Given the description of an element on the screen output the (x, y) to click on. 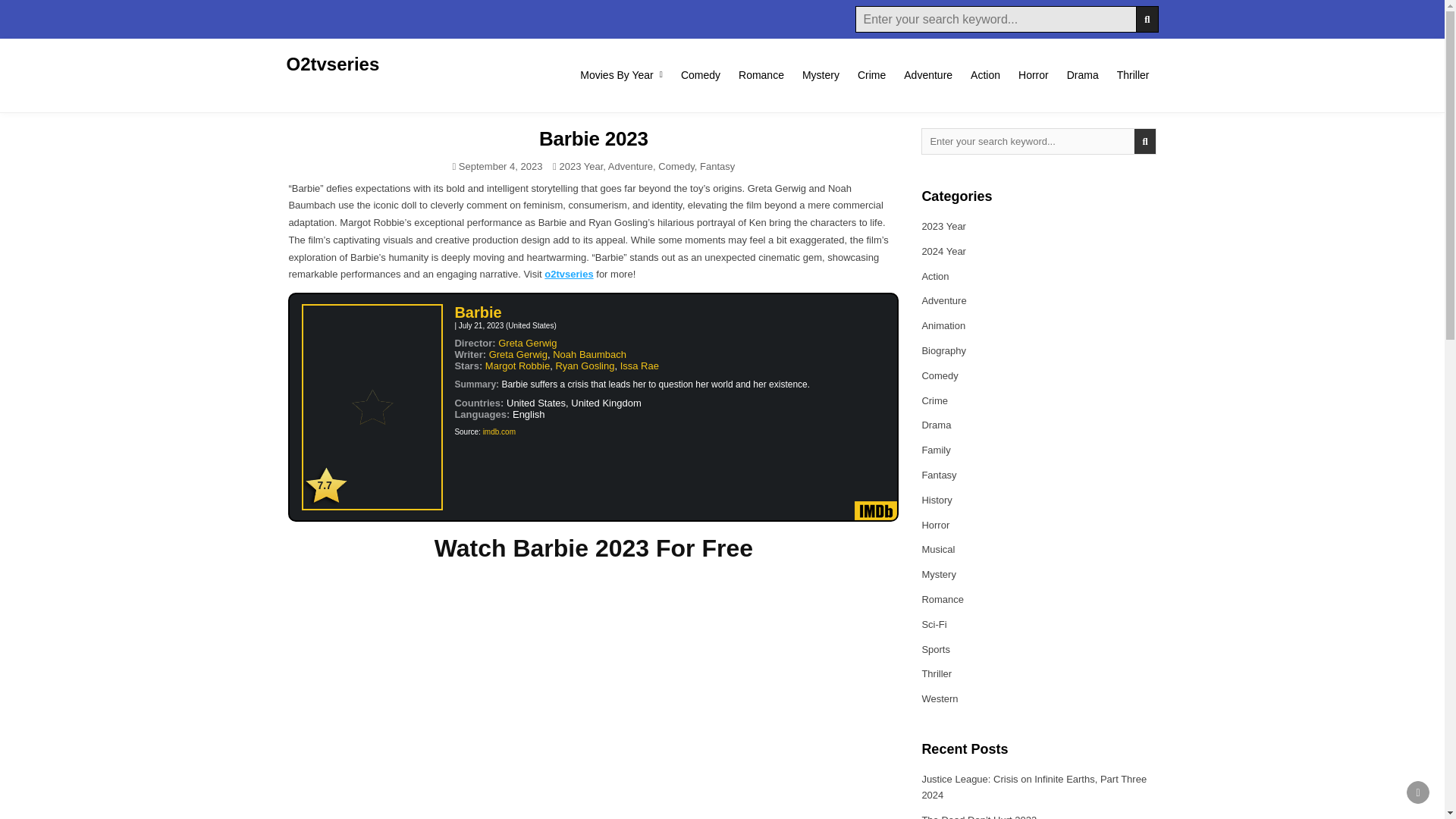
o2tvseries (568, 274)
imdb.com (499, 431)
Comedy (676, 165)
Movies By Year (620, 74)
Horror (1033, 74)
Mystery (820, 74)
Adventure (630, 165)
Greta Gerwig (518, 354)
Margot Robbie (517, 365)
Greta Gerwig (526, 342)
Drama (1083, 74)
Action (984, 74)
Noah Baumbach (589, 354)
Ryan Gosling (584, 365)
O2tvseries (333, 64)
